Given the description of an element on the screen output the (x, y) to click on. 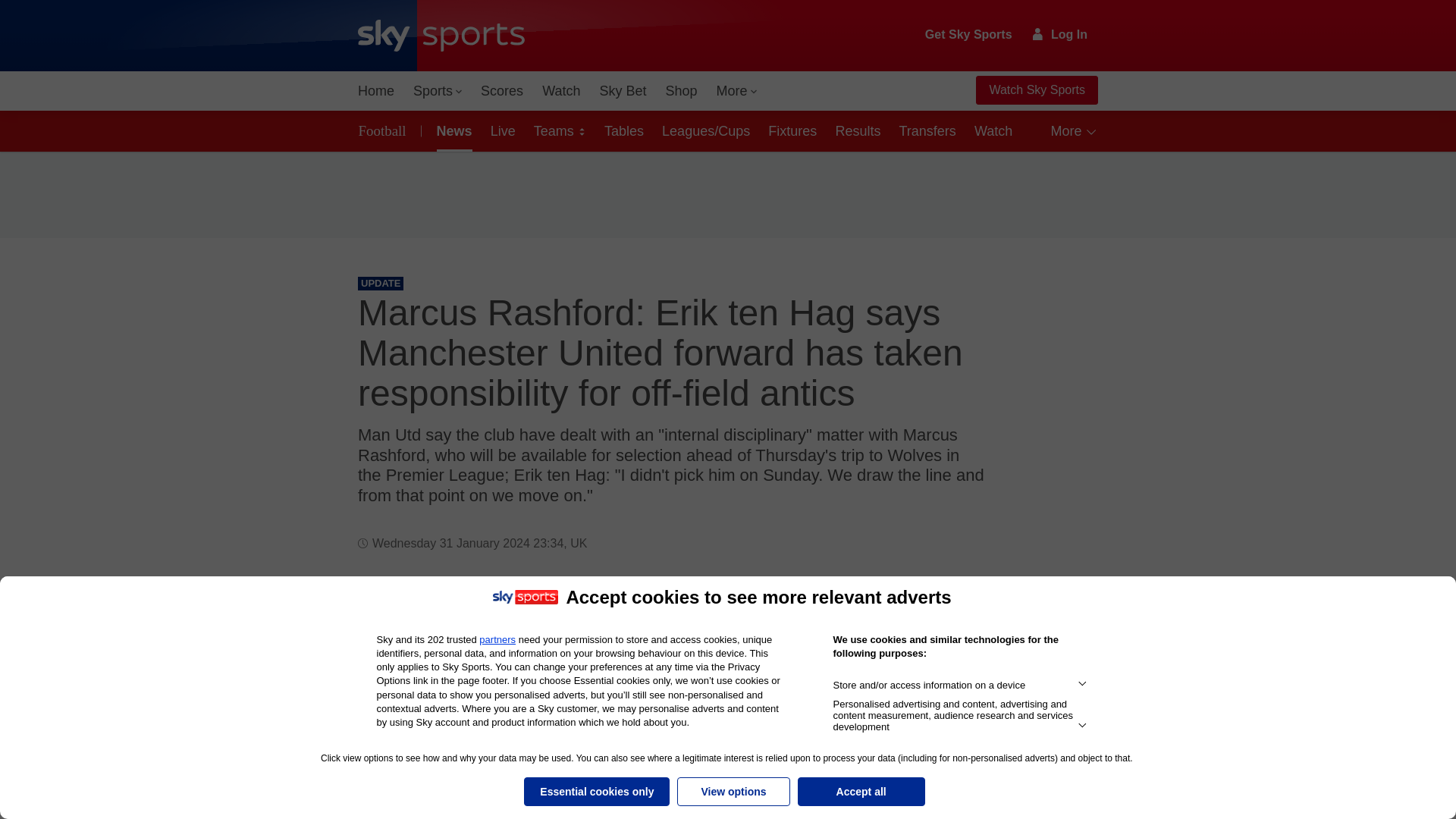
Sports (437, 91)
Get Sky Sports (968, 34)
Scores (502, 91)
Home (375, 91)
Watch Sky Sports (1036, 90)
Shop (681, 91)
News (451, 130)
Football (385, 130)
More (736, 91)
Sky Bet (622, 91)
